Given the description of an element on the screen output the (x, y) to click on. 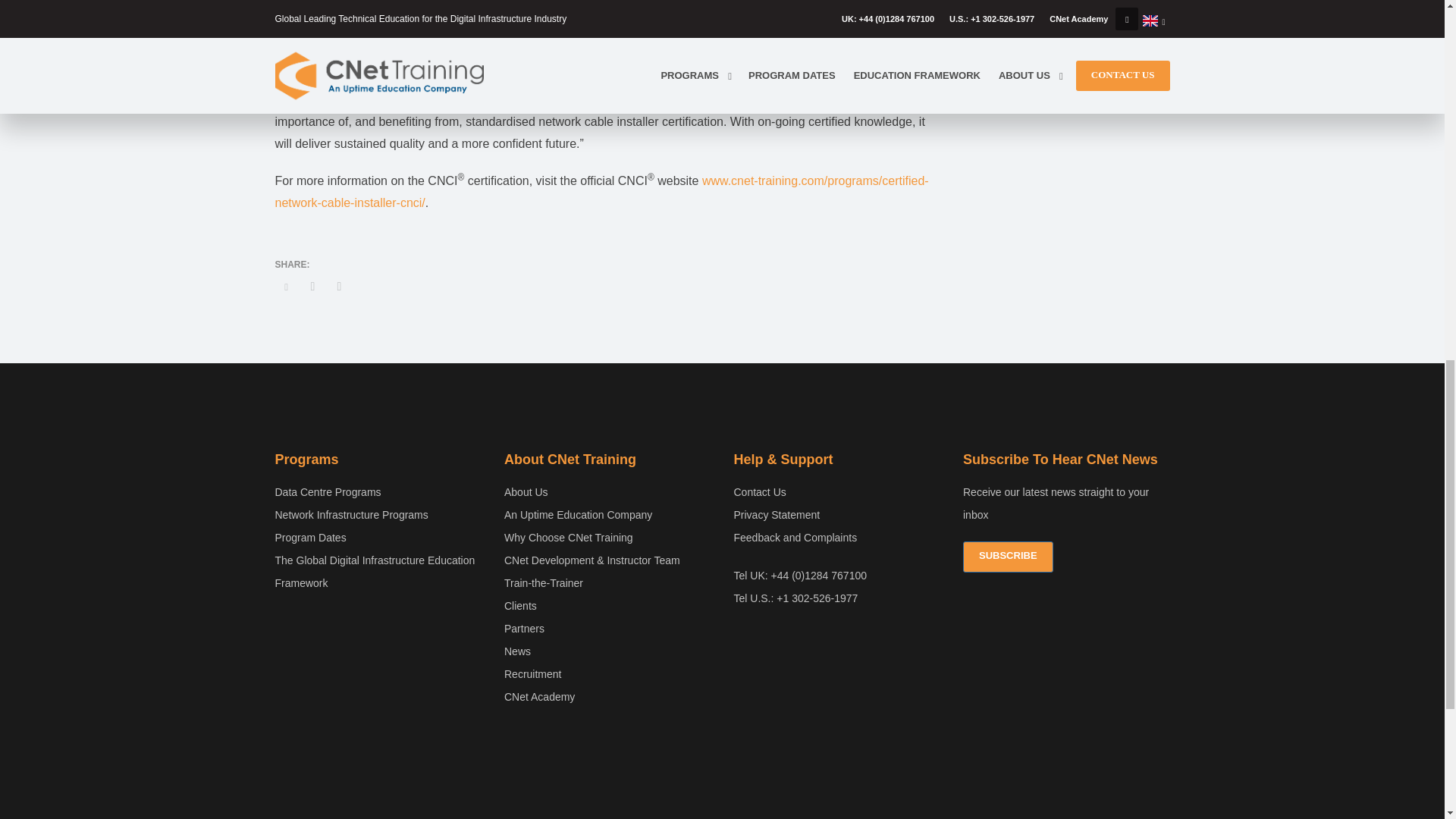
Click me (1007, 556)
Sustainability (722, 775)
SHARE ON FACEBOOK (312, 286)
SHARE ON MAIL (338, 286)
SHARE ON TWITTER (836, 514)
